Given the description of an element on the screen output the (x, y) to click on. 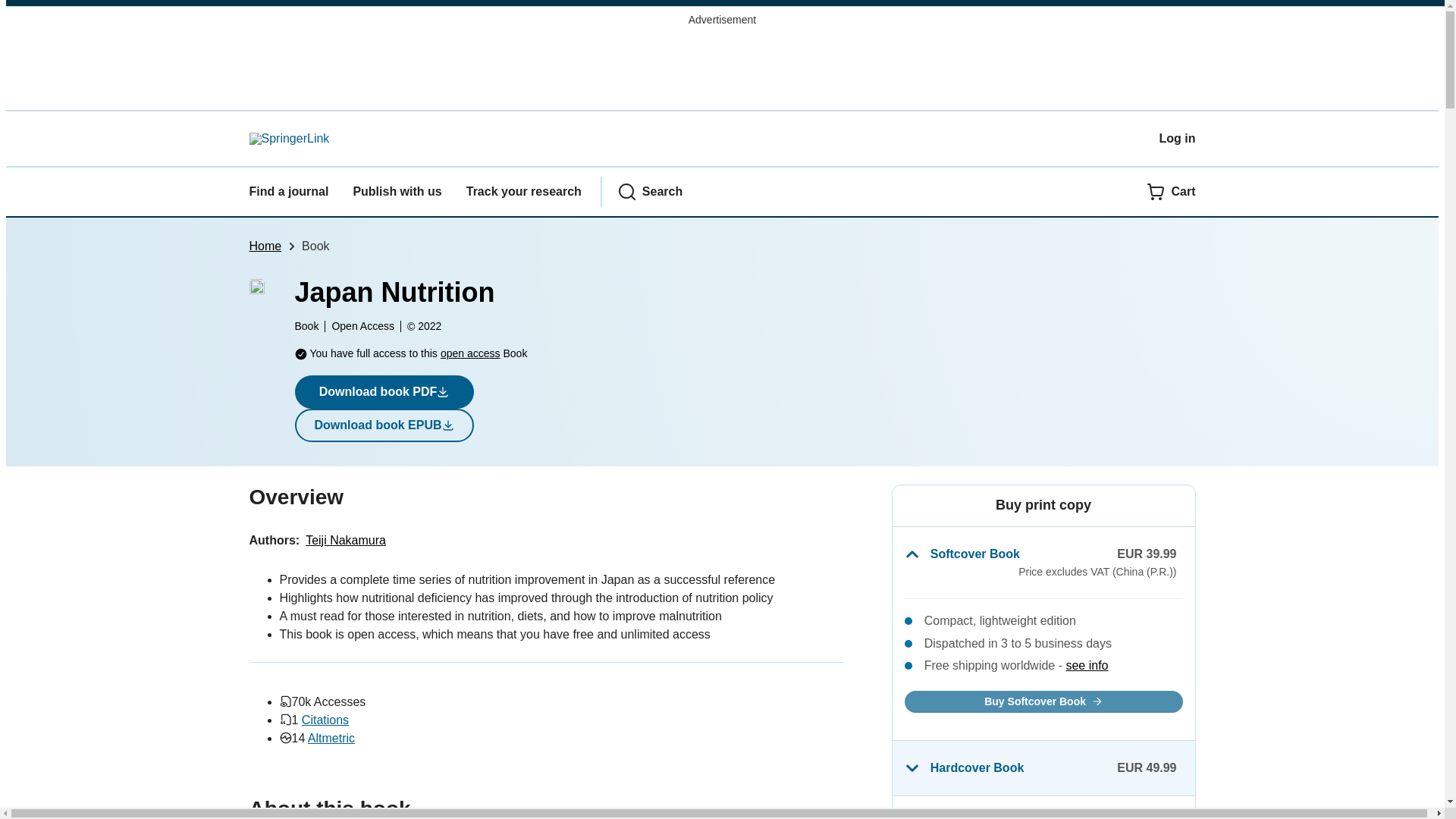
Visit Altmetric for full social mention details (331, 738)
Search (649, 191)
Find a journal (288, 191)
open access (470, 353)
Cart (1170, 191)
Log in (1177, 138)
Publish with us (396, 191)
Download book PDF (383, 391)
Altmetric (331, 738)
Home (264, 245)
